Given the description of an element on the screen output the (x, y) to click on. 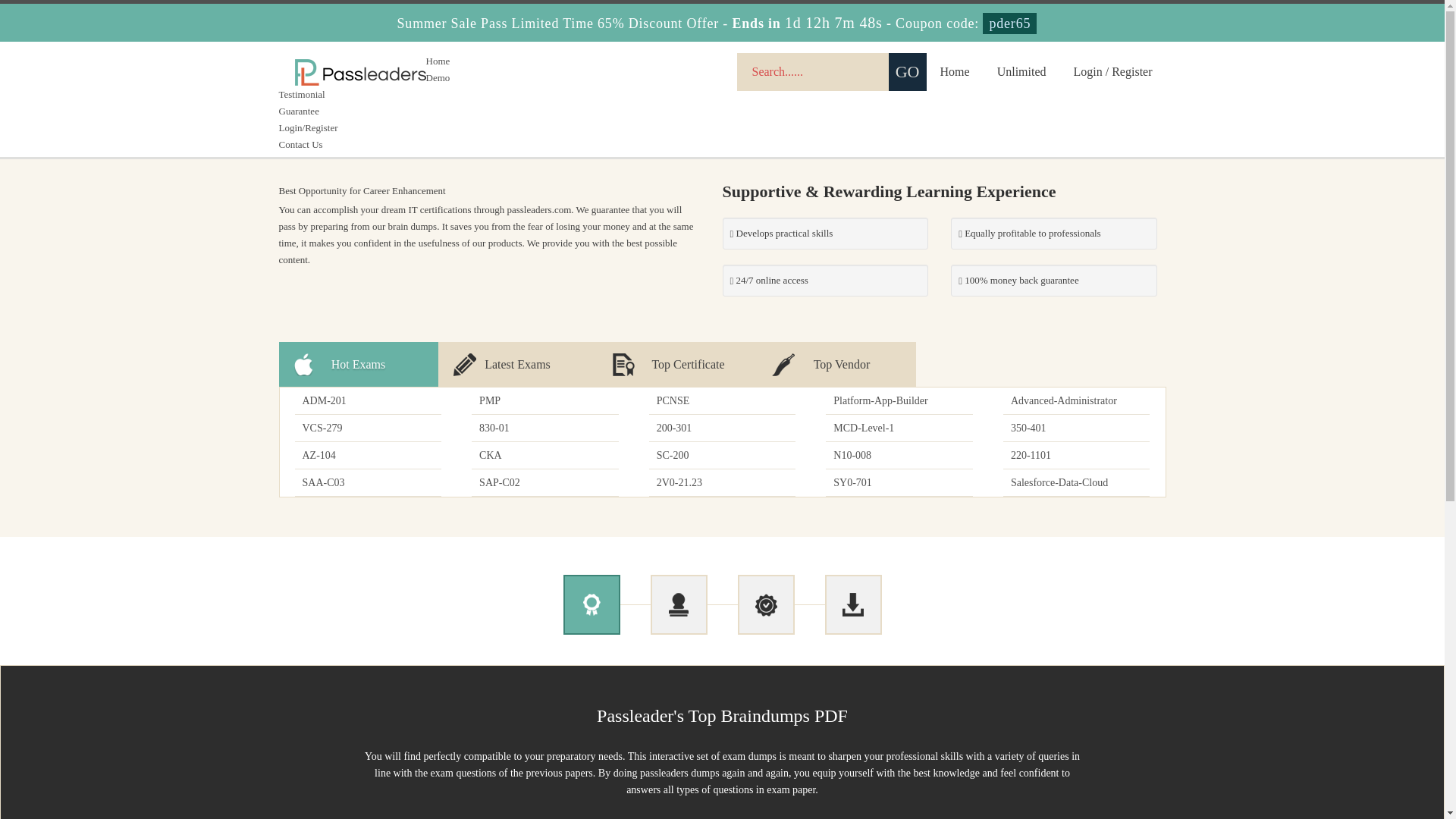
Guarantee (298, 111)
Home (955, 71)
GO (907, 71)
Platform-App-Builder (898, 400)
220-1101 (1076, 455)
Testimonial (301, 93)
N10-008 (898, 455)
Salesforce-Data-Cloud (1076, 482)
Top Certificate (676, 364)
SAA-C03 (367, 482)
